Given the description of an element on the screen output the (x, y) to click on. 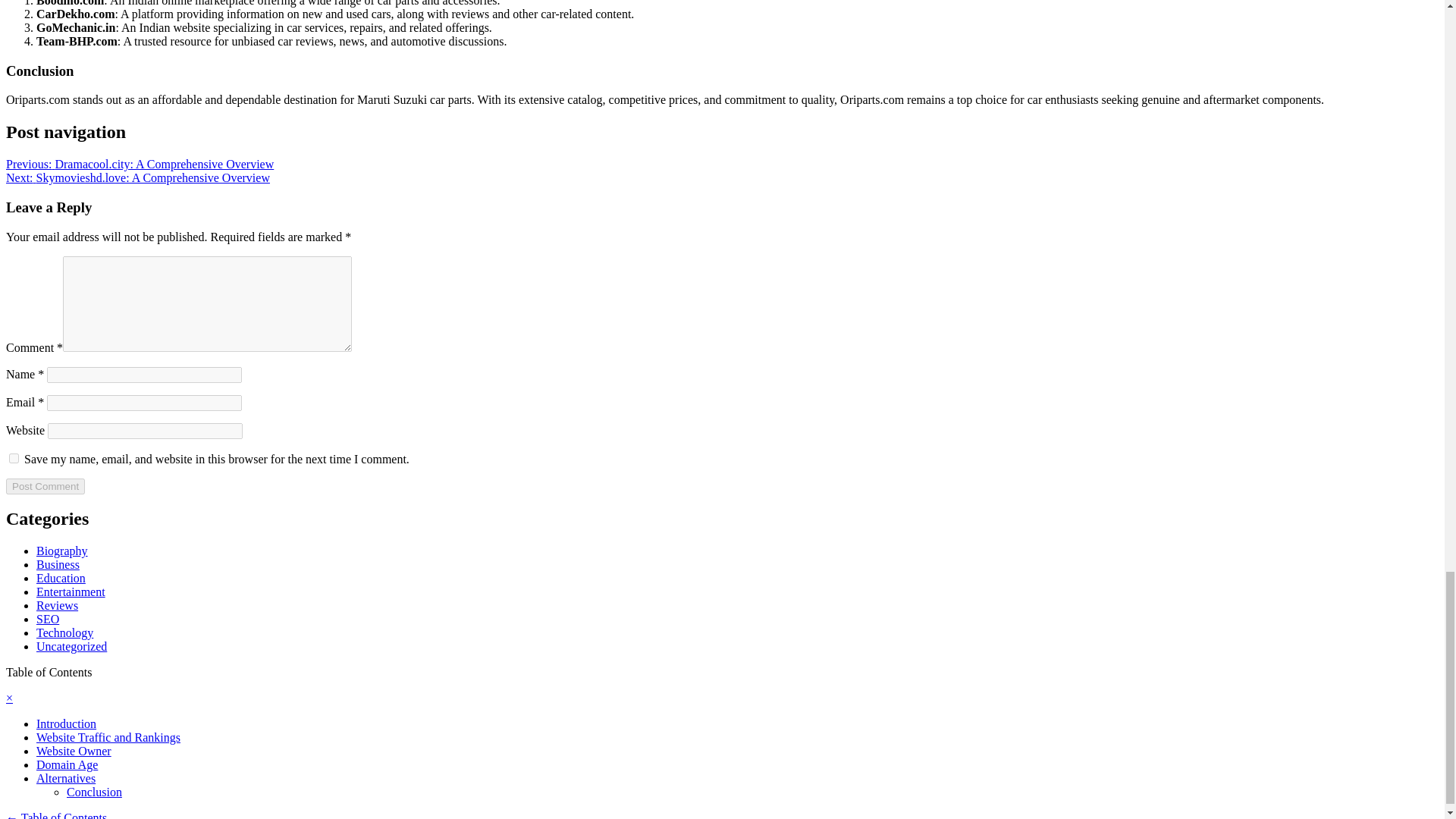
Alternatives (66, 778)
Website Owner (74, 750)
yes (13, 458)
Website Traffic and Rankings (108, 737)
Domain Age (66, 764)
Post Comment (44, 486)
Conclusion (94, 791)
Introduction (66, 723)
